Given the description of an element on the screen output the (x, y) to click on. 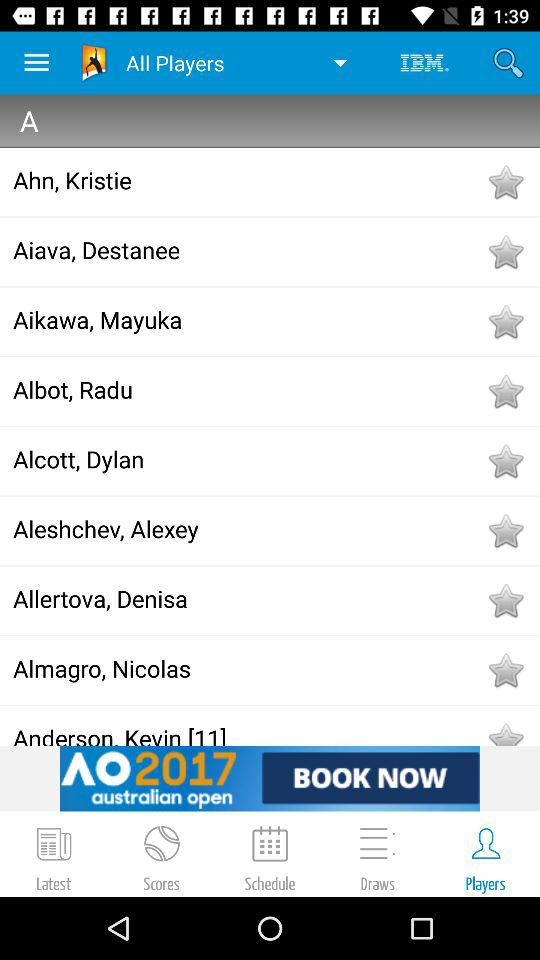
select the player (505, 670)
